Given the description of an element on the screen output the (x, y) to click on. 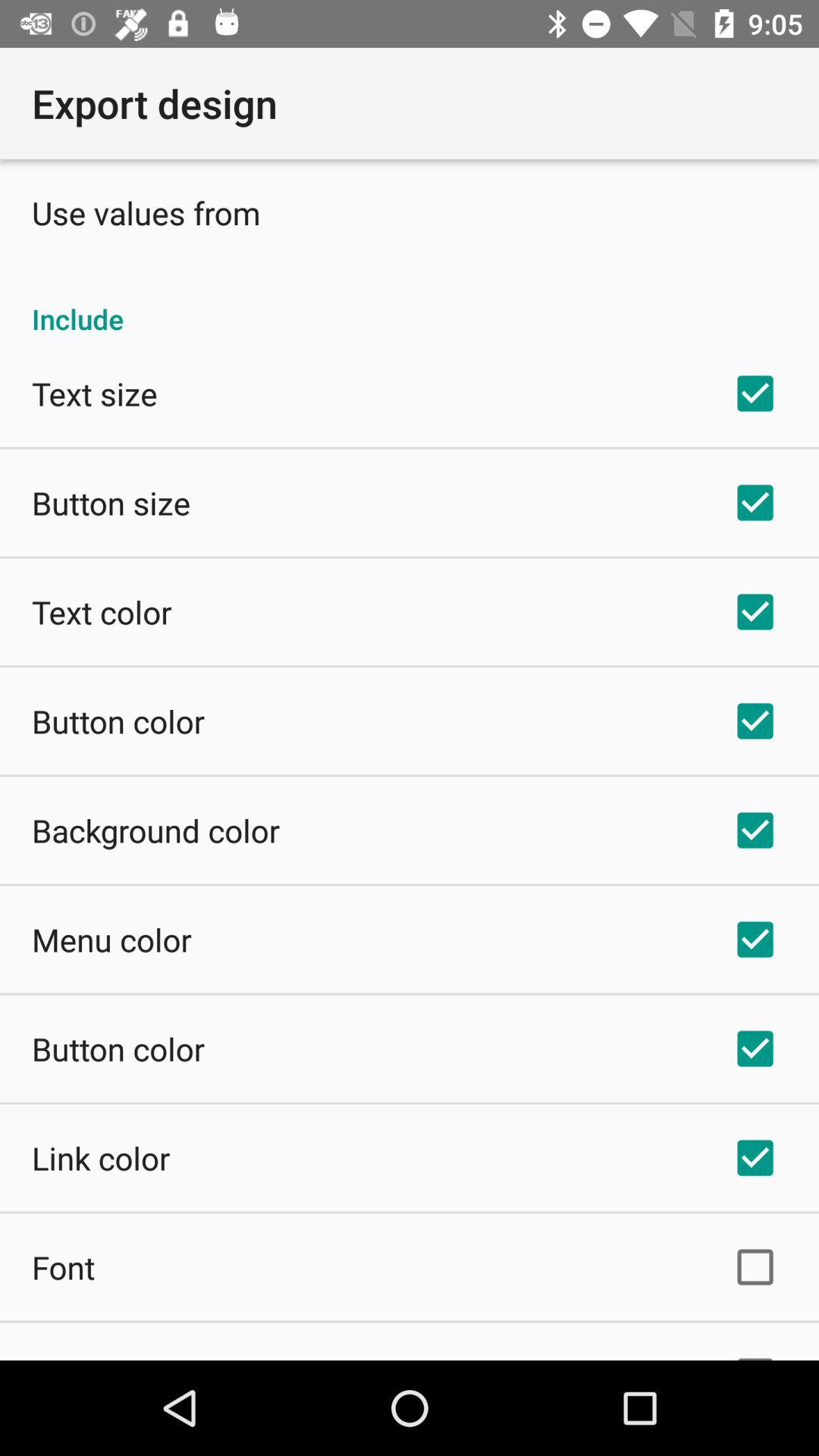
click the text color (101, 611)
